Given the description of an element on the screen output the (x, y) to click on. 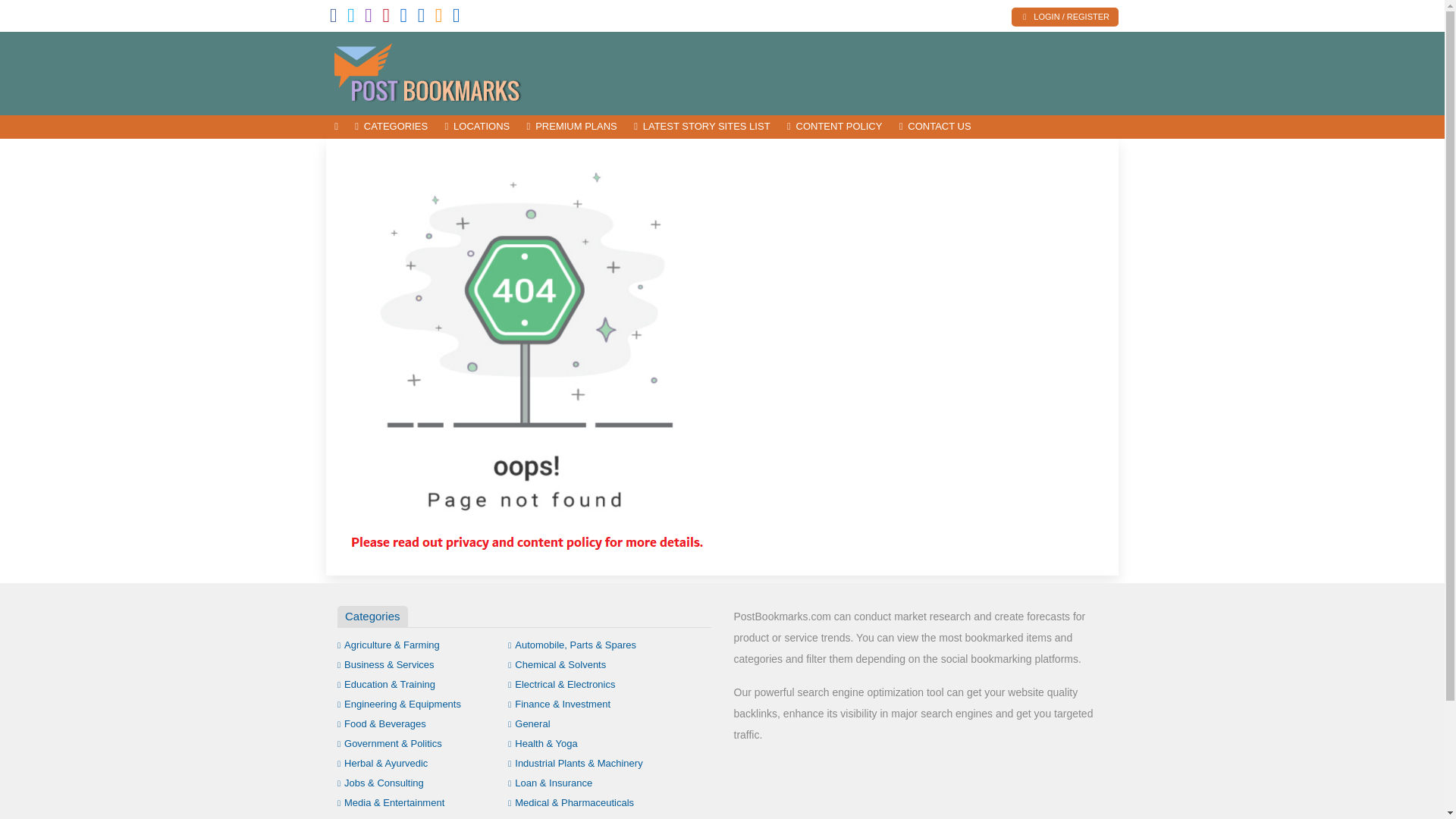
CONTACT US (935, 126)
PREMIUM PLANS (572, 126)
General (529, 723)
CONTENT POLICY (834, 126)
CATEGORIES (390, 126)
LATEST STORY SITES LIST (702, 126)
LOCATIONS (476, 126)
